Given the description of an element on the screen output the (x, y) to click on. 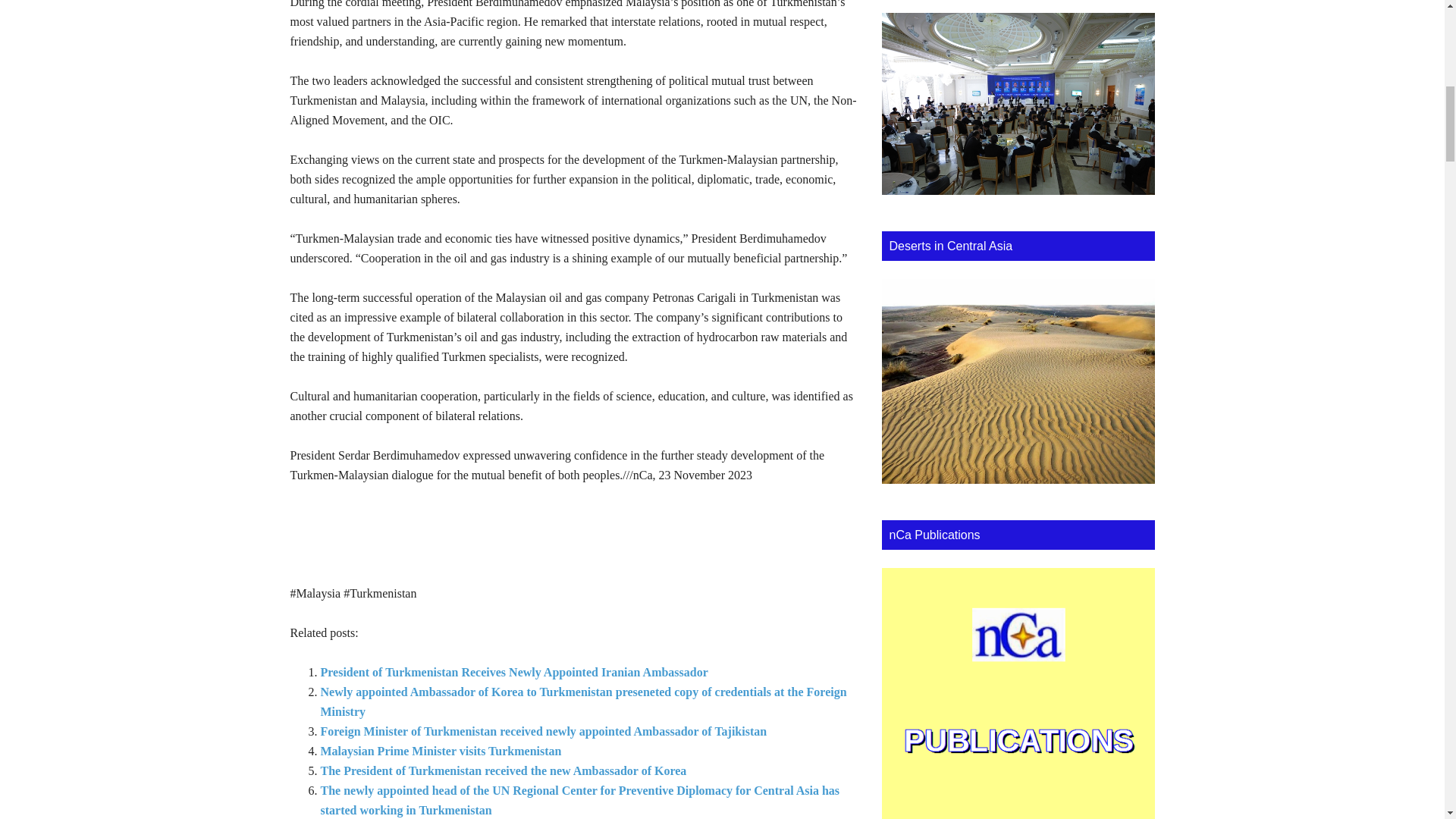
Malaysian Prime Minister visits Turkmenistan (440, 750)
Malaysian Prime Minister visits Turkmenistan (440, 750)
